Given the description of an element on the screen output the (x, y) to click on. 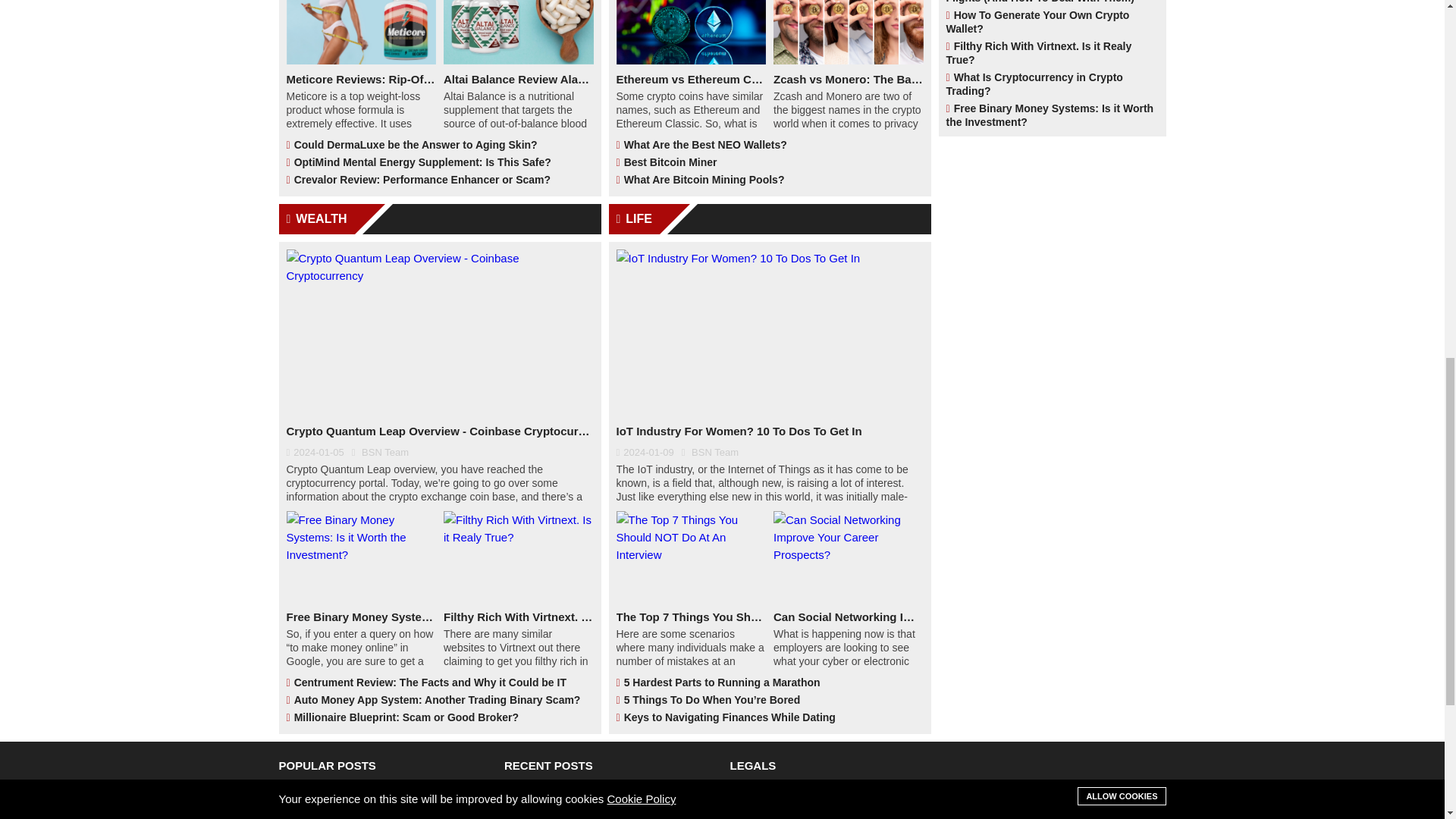
Altai Balance Review Alarming Customer Scam Complaints (519, 78)
Crypto Quantum Leap Overview - Coinbase Cryptocurrency (440, 430)
Free Binary Money Systems: Is it Worth the Investment? (361, 616)
OptiMind Mental Energy Supplement: Is This Safe? (440, 162)
Meticore Reviews: Rip-Off Issues Negative Effects? (361, 78)
WEALTH (440, 218)
What Are the Best NEO Wallets? (769, 144)
Could DermaLuxe be the Answer to Aging Skin? (440, 144)
Terms and Conditions (834, 802)
Best Bitcoin Miner (769, 162)
